Given the description of an element on the screen output the (x, y) to click on. 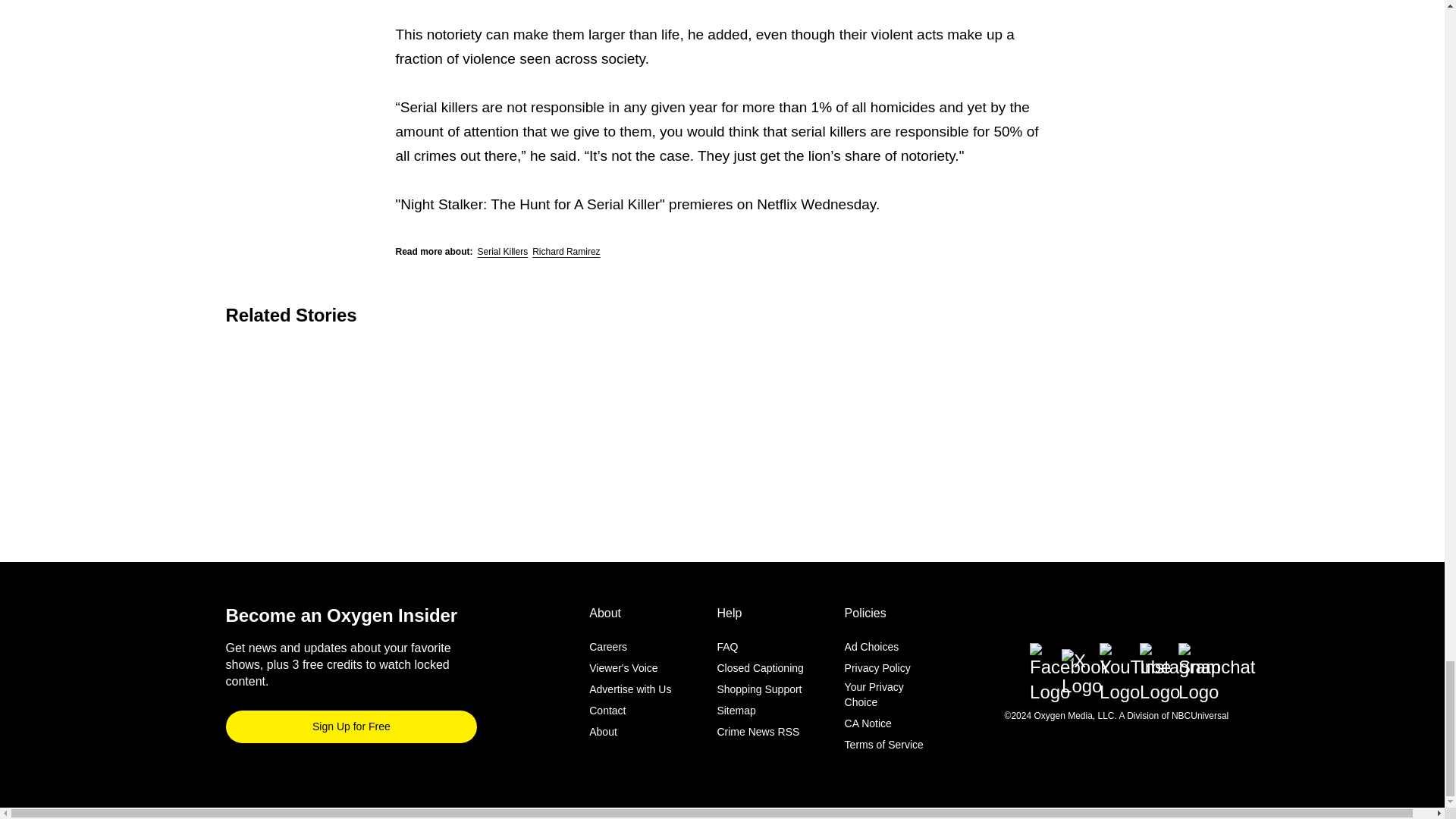
Advertise with Us (630, 689)
Serial Killers (502, 251)
